Given the description of an element on the screen output the (x, y) to click on. 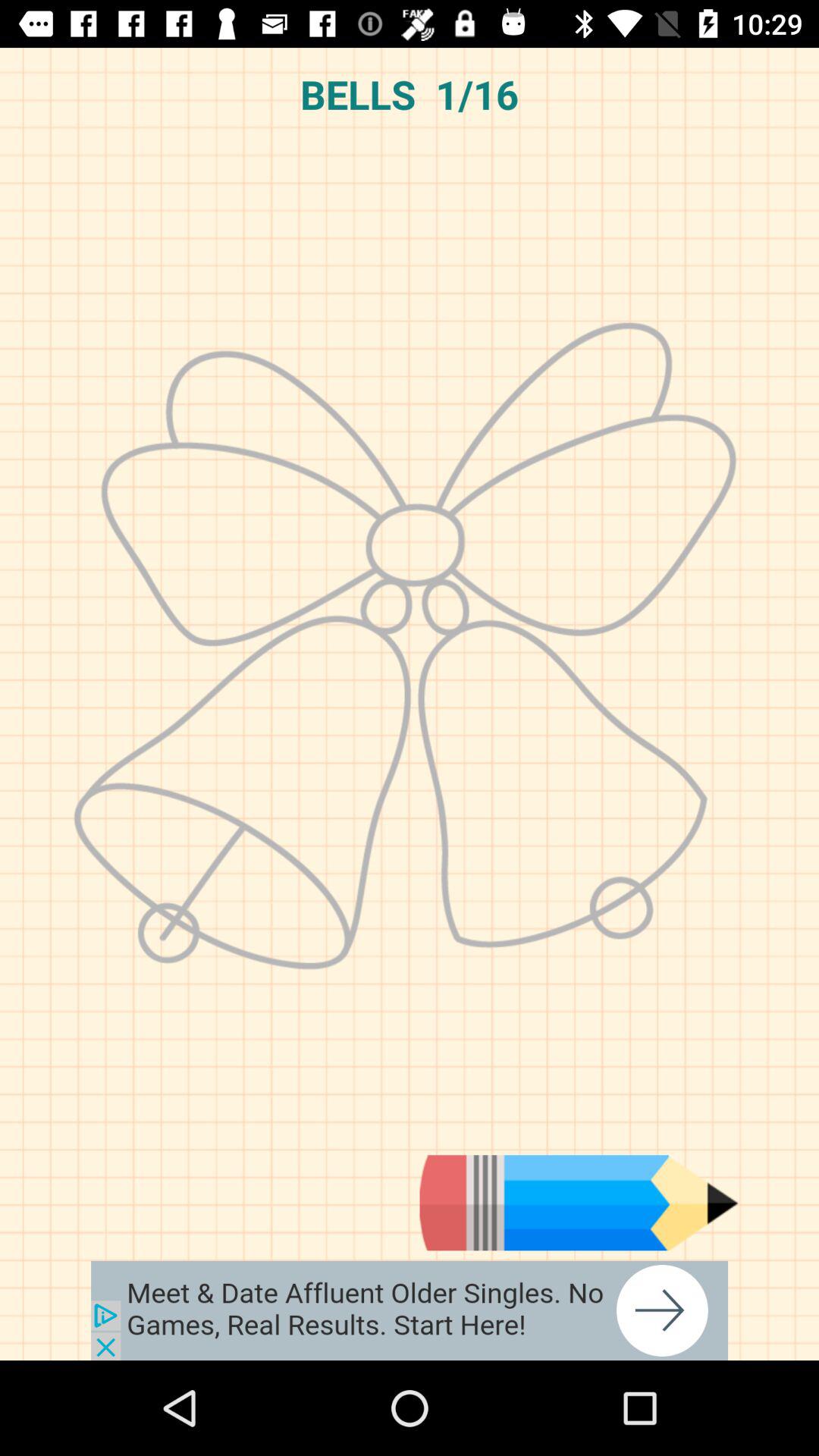
draw (578, 1202)
